Given the description of an element on the screen output the (x, y) to click on. 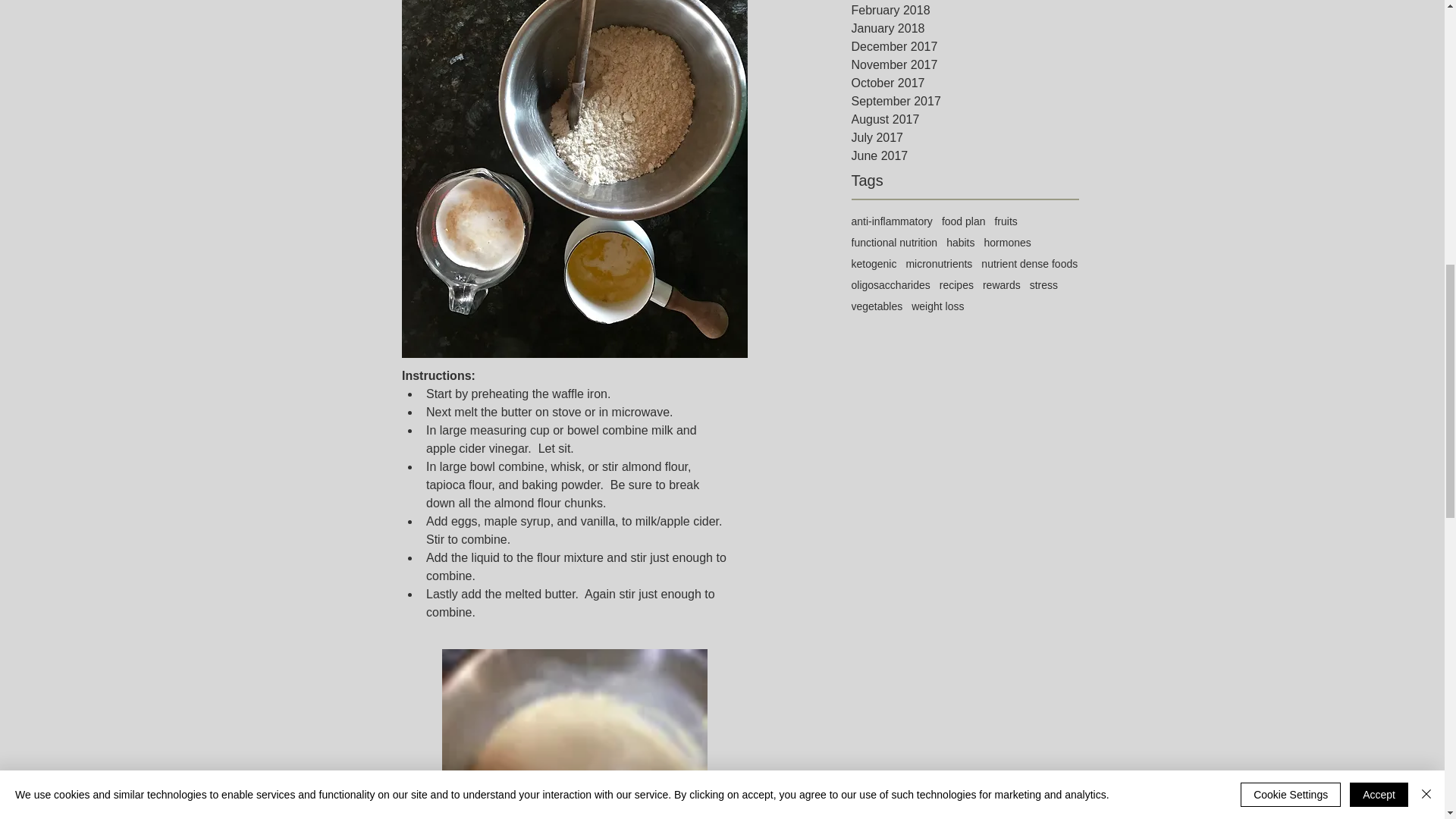
functional nutrition (893, 242)
September 2017 (964, 101)
micronutrients (938, 263)
habits (960, 242)
food plan (963, 221)
July 2017 (964, 137)
rewards (1001, 285)
August 2017 (964, 119)
ketogenic (873, 263)
oligosaccharides (890, 285)
June 2017 (964, 156)
December 2017 (964, 46)
November 2017 (964, 65)
October 2017 (964, 83)
